Given the description of an element on the screen output the (x, y) to click on. 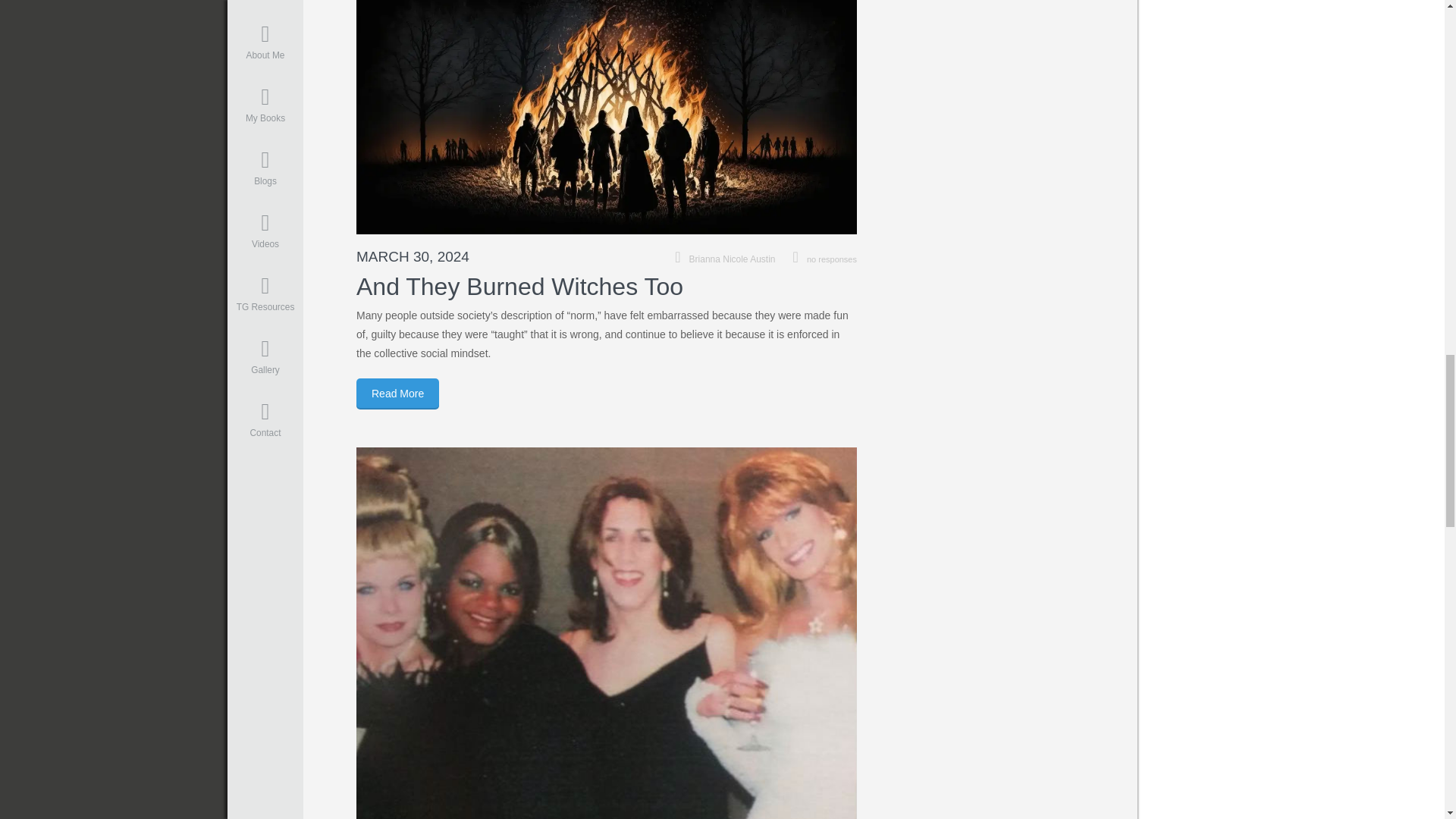
And They Burned Witches Too (519, 286)
Read More (397, 393)
Brianna Nicole Austin (732, 258)
